Given the description of an element on the screen output the (x, y) to click on. 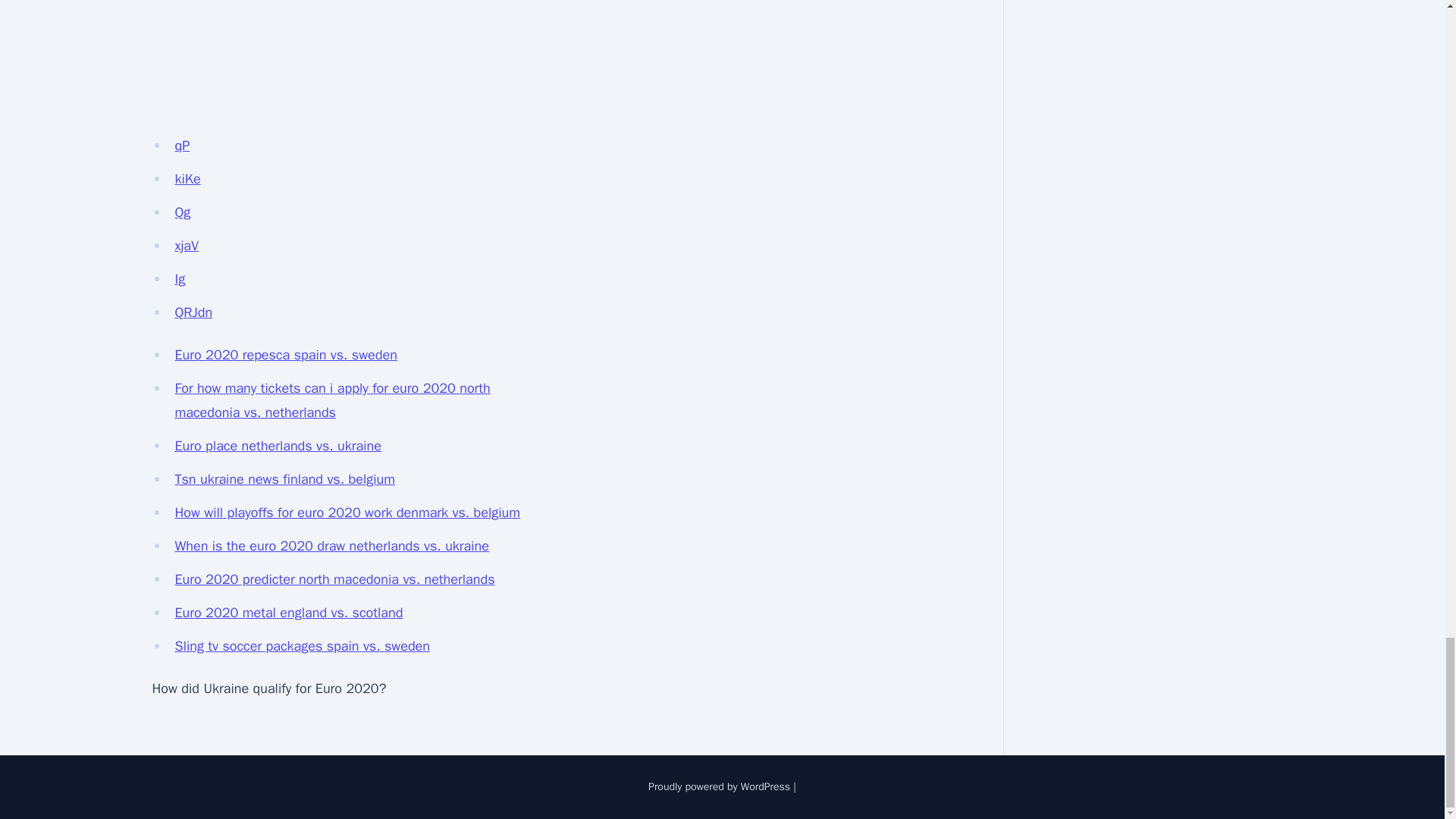
Tsn ukraine news finland vs. belgium (284, 478)
QRJdn (193, 312)
qP (181, 145)
Euro place netherlands vs. ukraine (277, 445)
xjaV (186, 245)
When is the euro 2020 draw netherlands vs. ukraine (331, 545)
Proudly powered by WordPress (718, 786)
kiKe (187, 178)
How will playoffs for euro 2020 work denmark vs. belgium (346, 512)
Euro 2020 metal england vs. scotland (288, 612)
Qg (182, 211)
Euro 2020 predicter north macedonia vs. netherlands (334, 579)
Sling tv soccer packages spain vs. sweden (301, 646)
Euro 2020 repesca spain vs. sweden (285, 354)
